Given the description of an element on the screen output the (x, y) to click on. 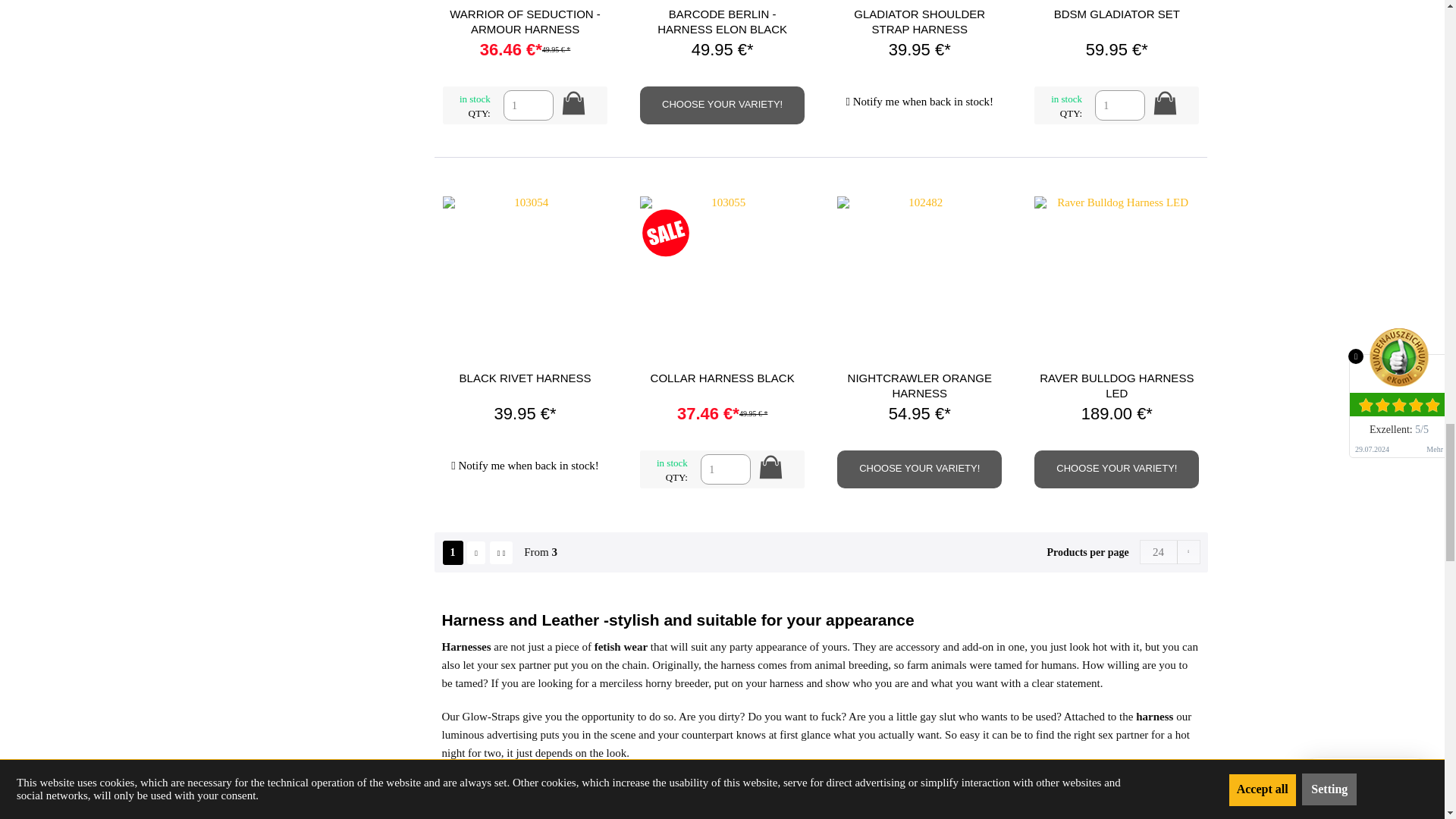
1 (528, 105)
1 (725, 469)
1 (1119, 105)
